Given the description of an element on the screen output the (x, y) to click on. 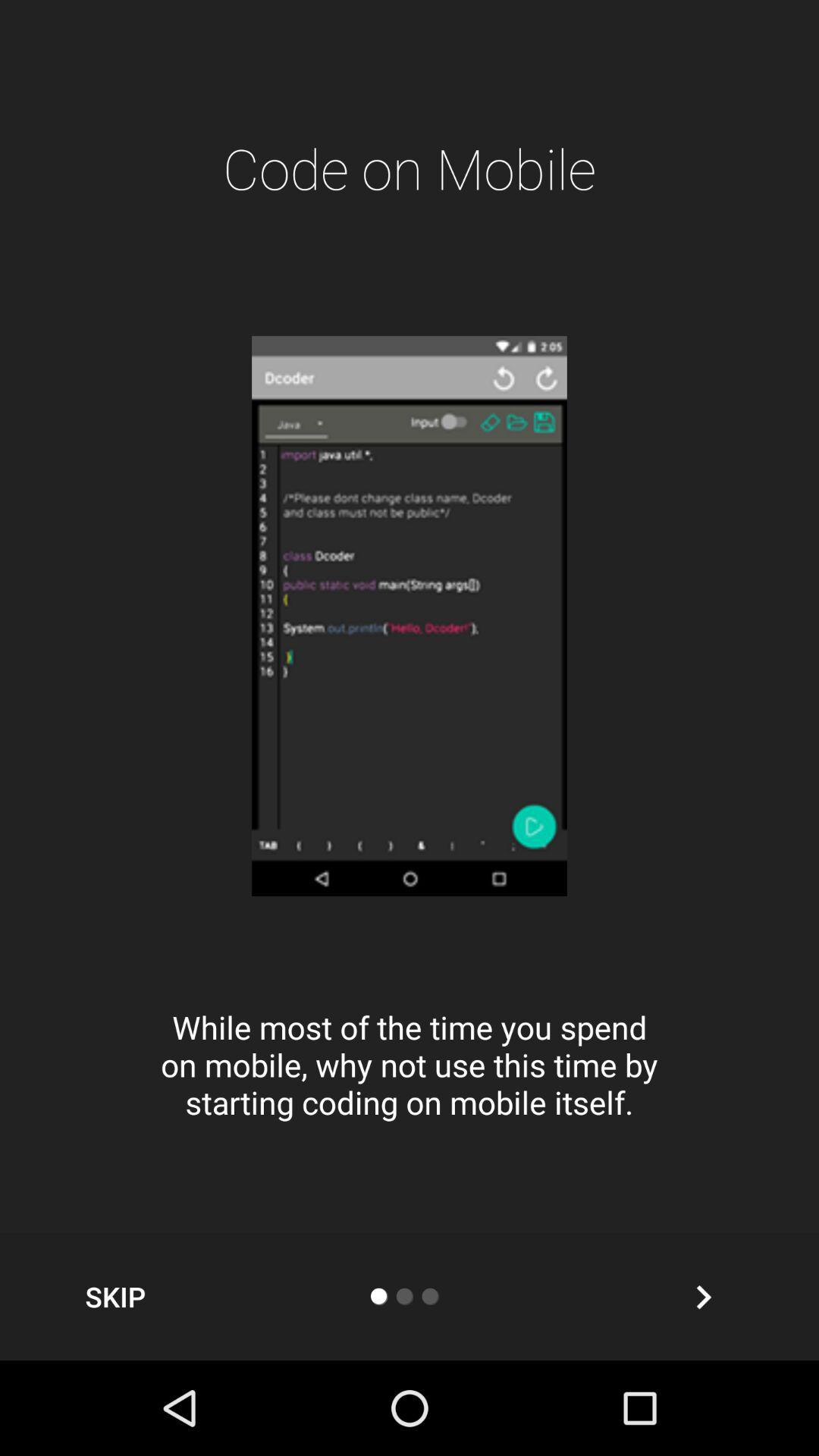
toggle next slide (703, 1296)
